Given the description of an element on the screen output the (x, y) to click on. 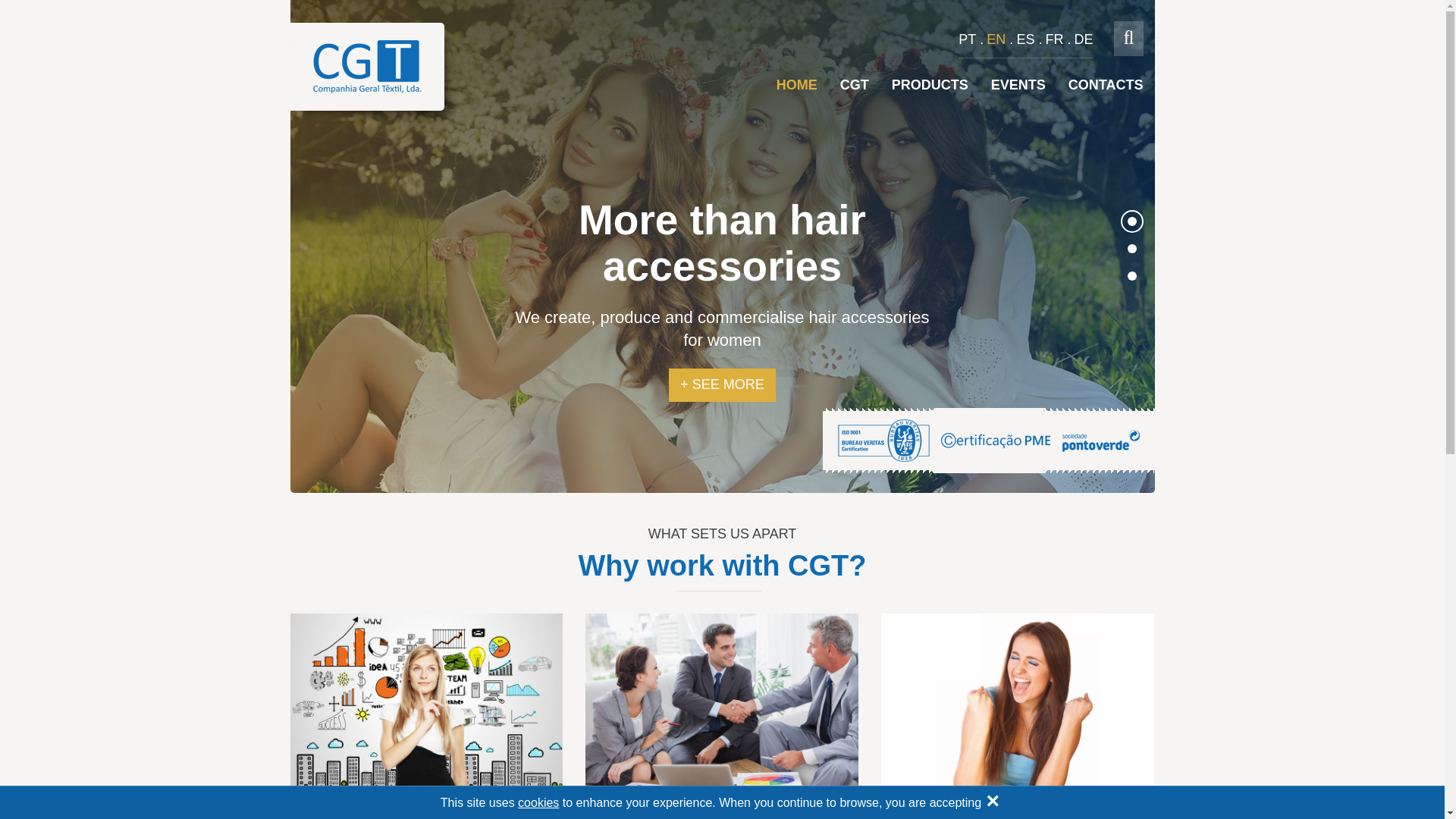
CGT (854, 85)
DE (1083, 38)
FR (1053, 38)
HOME (796, 85)
EN (996, 38)
CONTACTS (1105, 85)
PRODUCTS (929, 85)
PT (966, 38)
EVENTS (1018, 85)
ES (1024, 38)
